Given the description of an element on the screen output the (x, y) to click on. 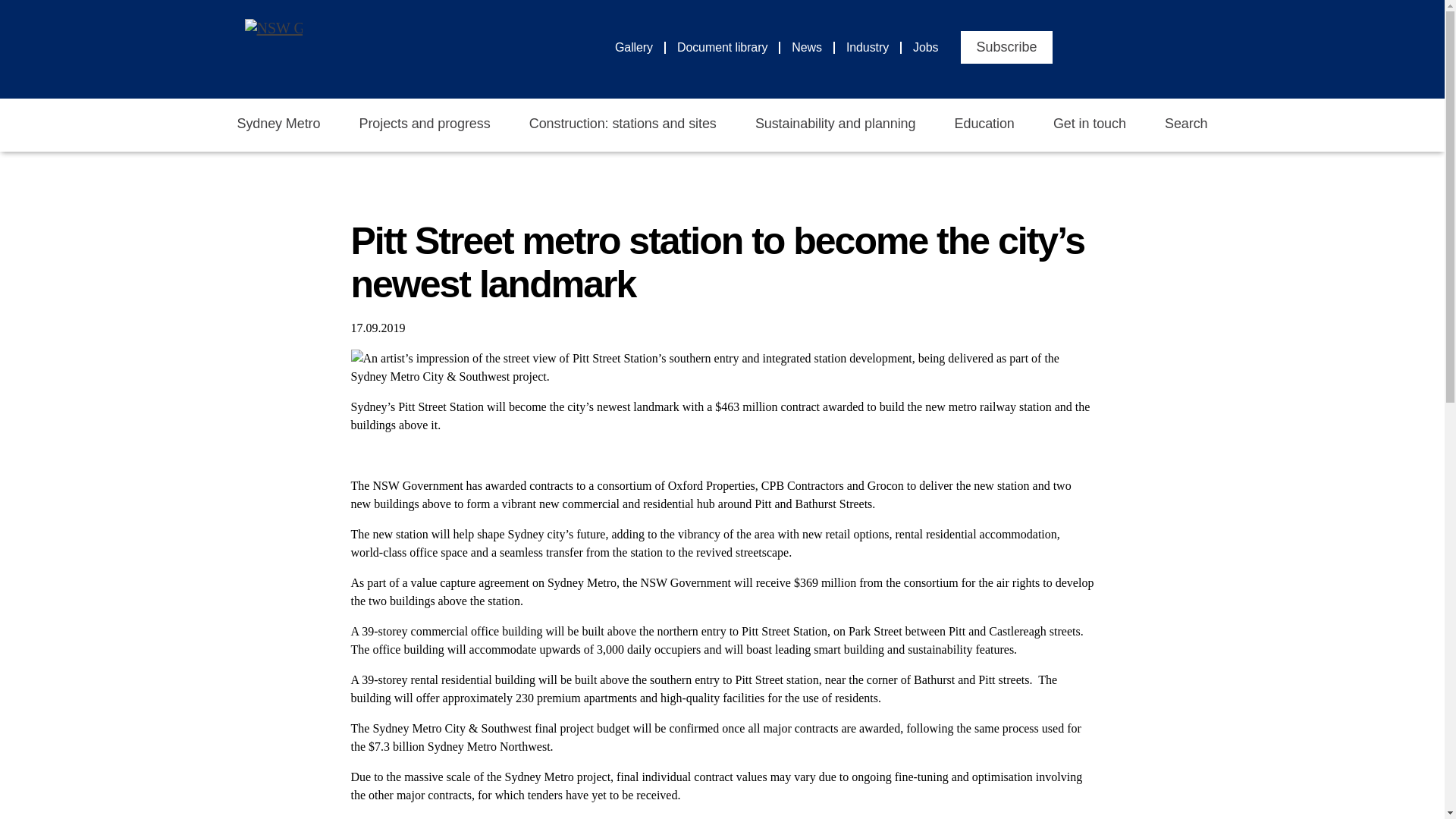
Projects and progress (424, 124)
Construction: stations and sites (622, 124)
Industry (873, 47)
Document library (728, 47)
News (813, 47)
Subscribe (1005, 47)
Sydney Metro (277, 124)
Gallery (639, 47)
Jobs (924, 47)
